Given the description of an element on the screen output the (x, y) to click on. 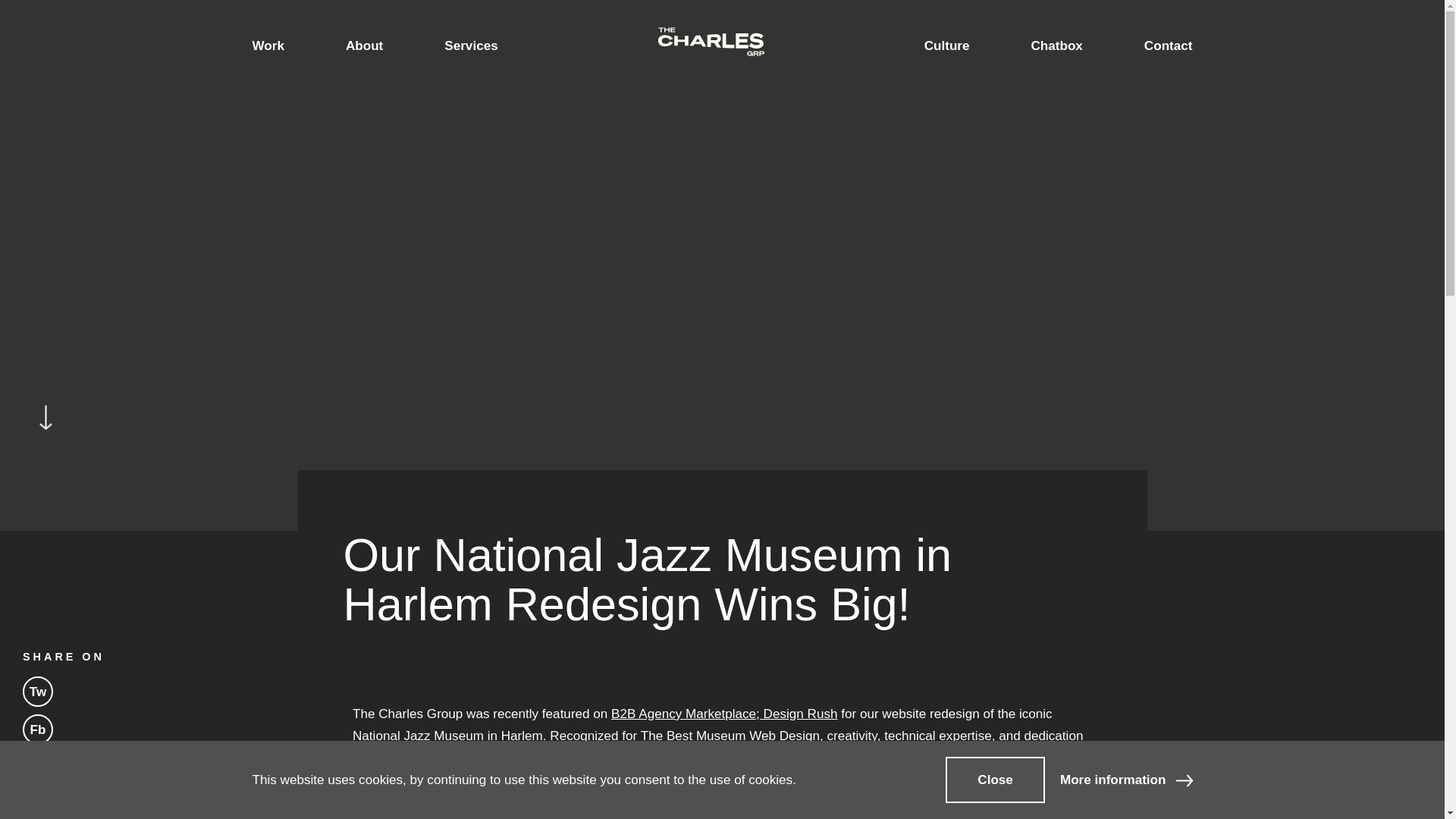
B2B Agency Marketplace; Design Rush (724, 713)
Culture (946, 45)
The National Jazz Museum in Harlem (620, 792)
Services (470, 45)
Tw (37, 691)
About (364, 45)
More information (1125, 779)
Home (711, 45)
Access to case study (1125, 779)
Close (994, 779)
